Given the description of an element on the screen output the (x, y) to click on. 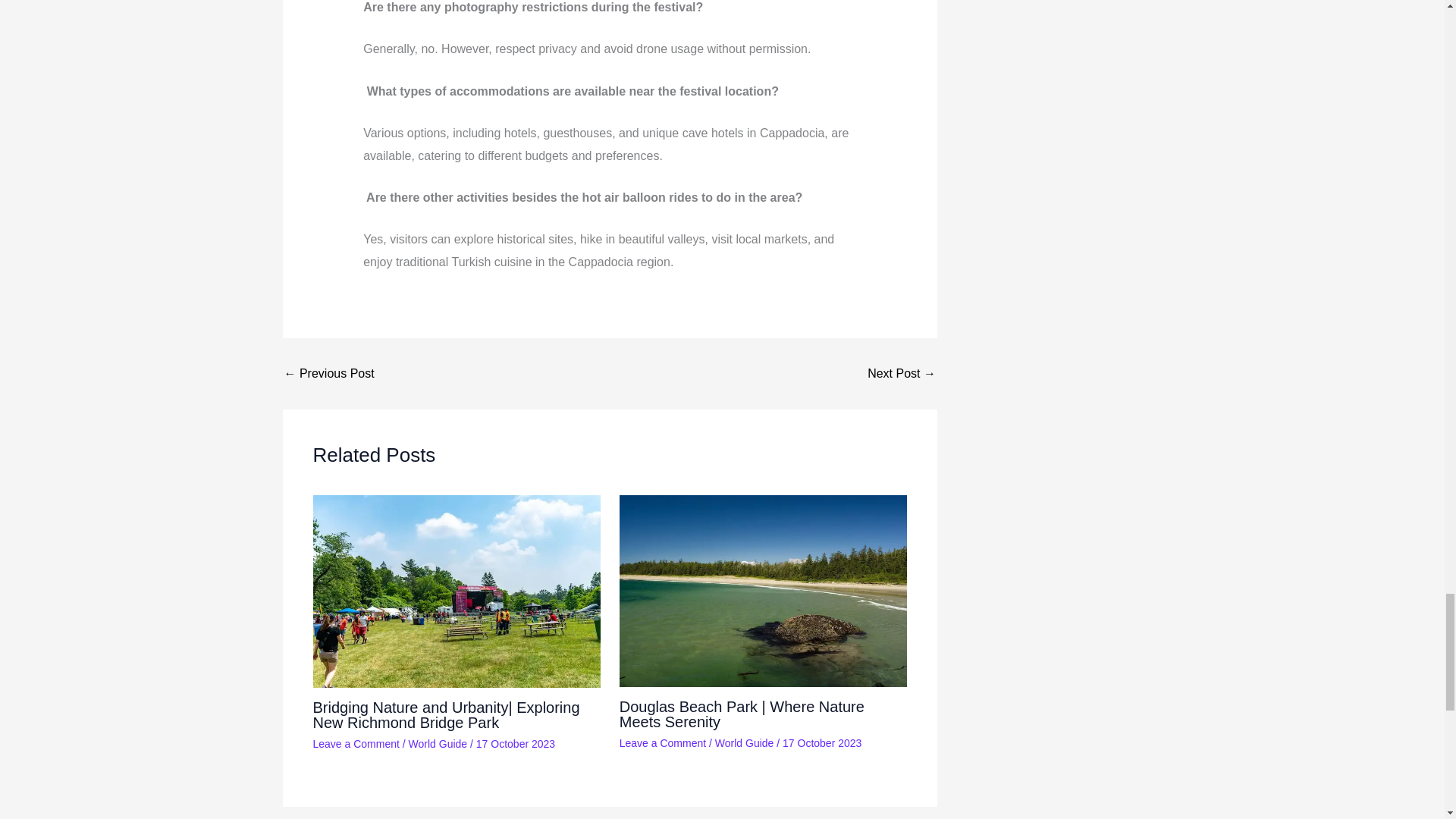
Leave a Comment (663, 743)
Chelsea Flower Show 2024: A Blossoming Spectacle (328, 373)
World Guide (438, 743)
Leave a Comment (355, 743)
World Guide (744, 743)
